Given the description of an element on the screen output the (x, y) to click on. 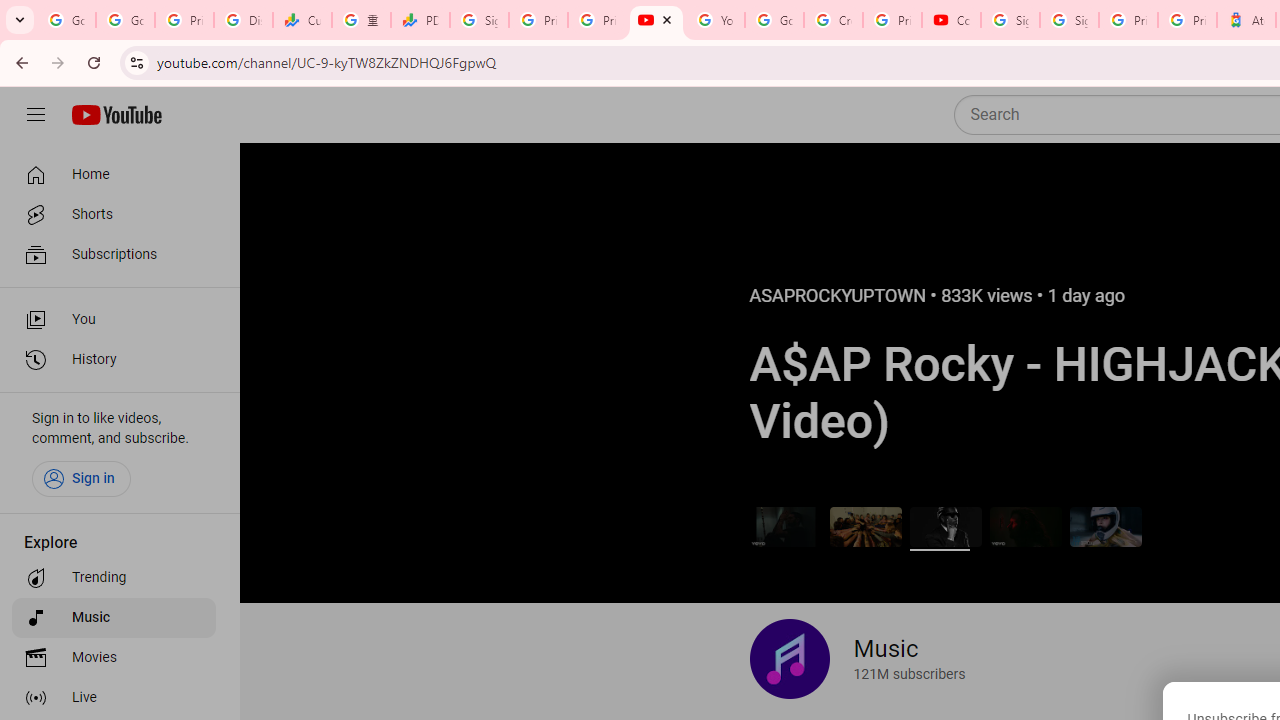
Trending (113, 578)
Guide (35, 115)
History (113, 359)
Music 121 million subscribers (857, 659)
Content Creator Programs & Opportunities - YouTube Creators (950, 20)
Subscriptions (113, 254)
YouTube Home (116, 115)
